Given the description of an element on the screen output the (x, y) to click on. 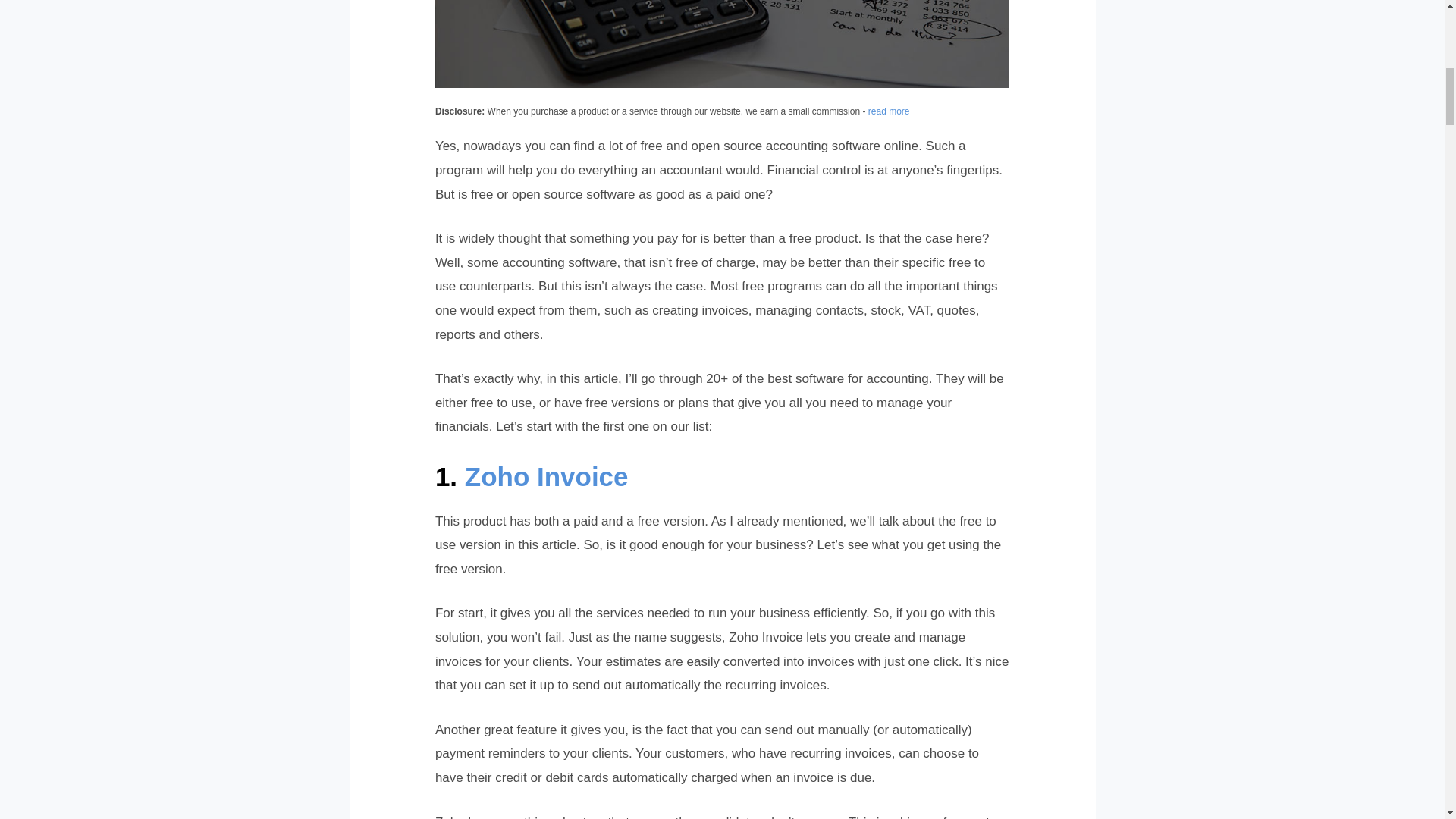
Zoho Invoice (546, 476)
read more (888, 111)
